Given the description of an element on the screen output the (x, y) to click on. 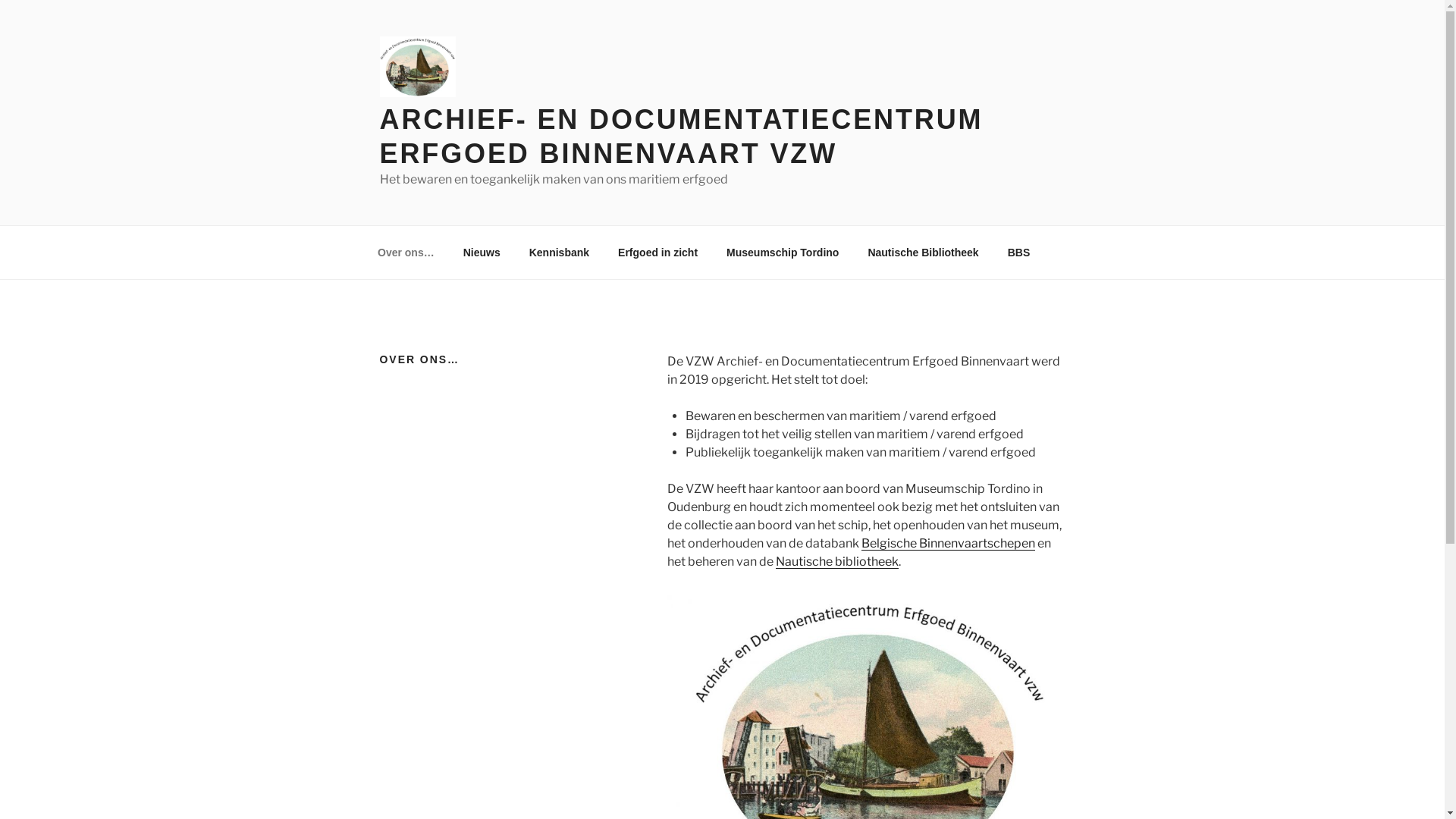
Nieuws Element type: text (481, 251)
Erfgoed in zicht Element type: text (658, 251)
Nautische bibliotheek Element type: text (836, 561)
Belgische Binnenvaartschepen Element type: text (948, 543)
Museumschip Tordino Element type: text (782, 251)
Nautische Bibliotheek Element type: text (922, 251)
ARCHIEF- EN DOCUMENTATIECENTRUM ERFGOED BINNENVAART VZW Element type: text (680, 136)
BBS Element type: text (1018, 251)
Kennisbank Element type: text (558, 251)
